Given the description of an element on the screen output the (x, y) to click on. 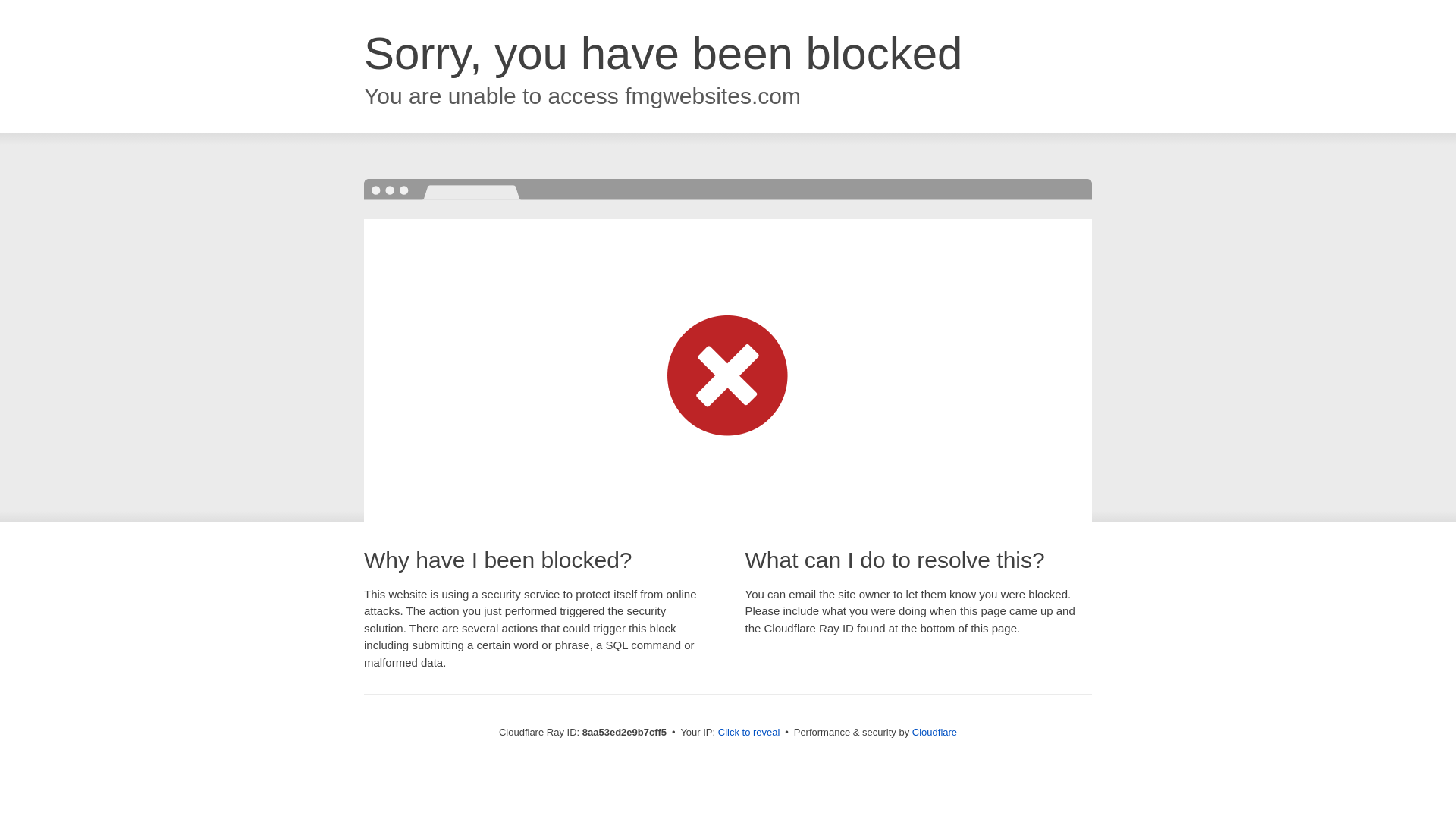
Cloudflare (934, 731)
Click to reveal (748, 732)
